Given the description of an element on the screen output the (x, y) to click on. 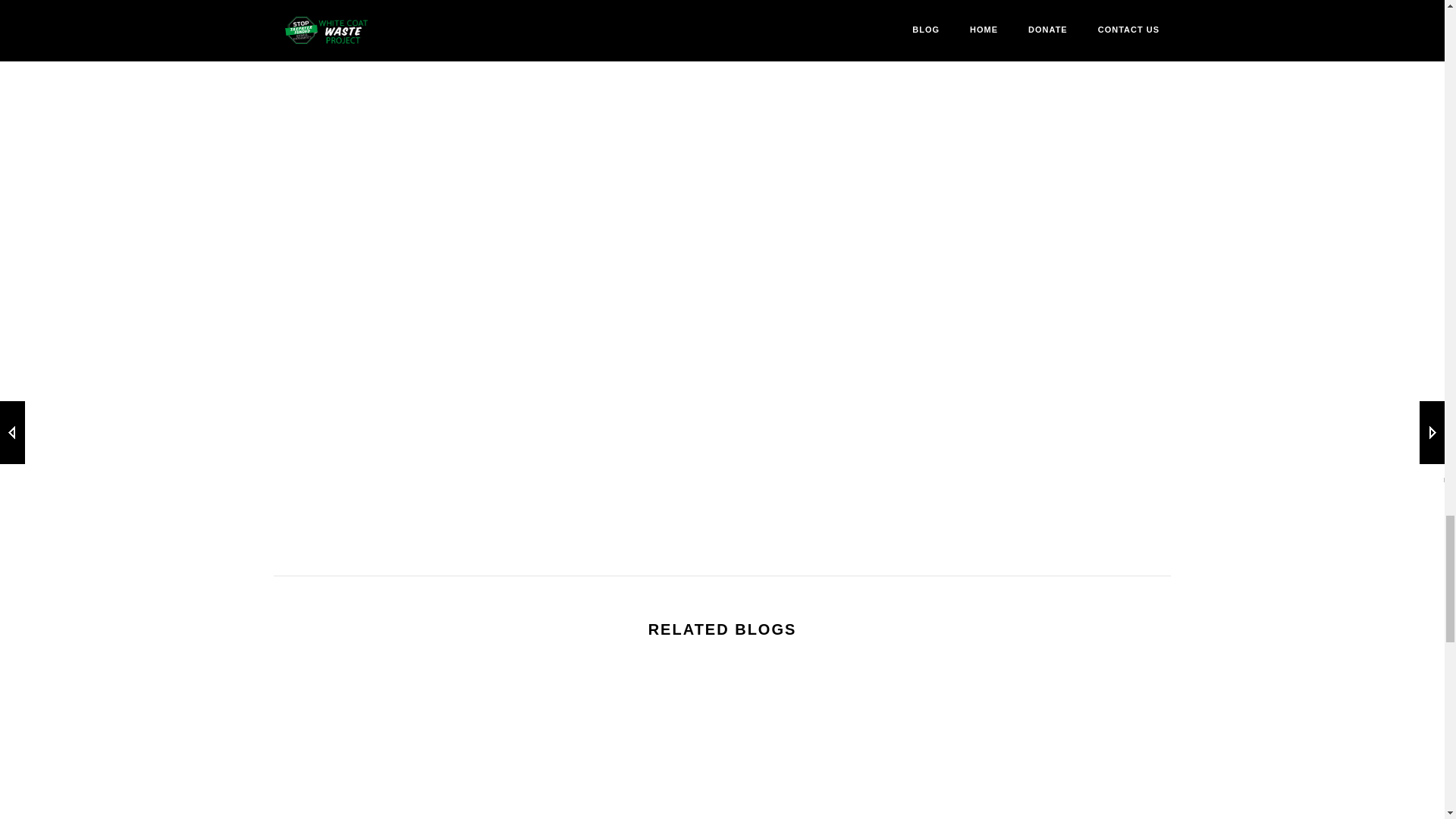
send message (484, 502)
